Given the description of an element on the screen output the (x, y) to click on. 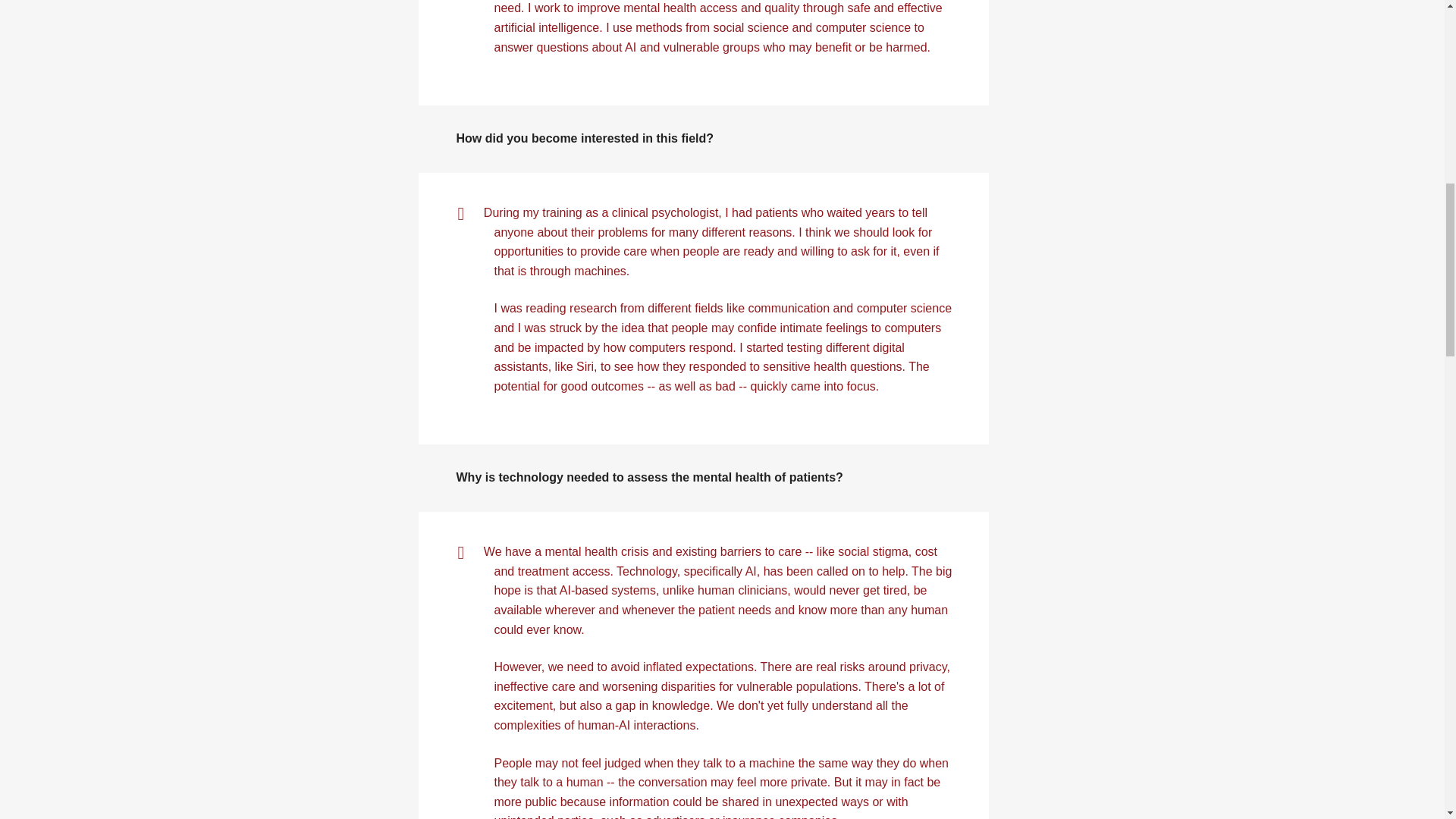
as well as bad (697, 386)
